Given the description of an element on the screen output the (x, y) to click on. 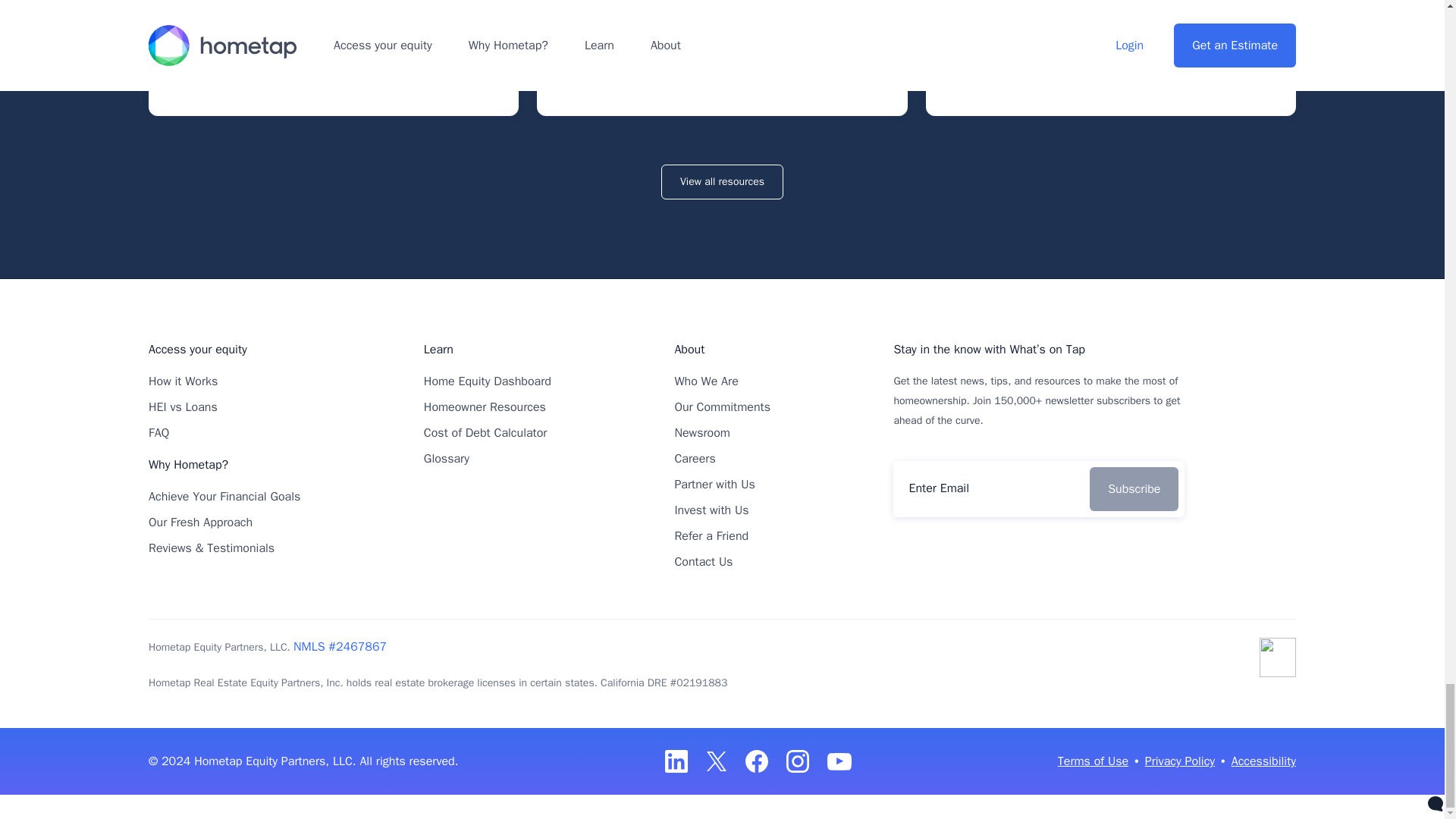
Refer a Friend (711, 535)
Home Equity Dashboard (487, 381)
HEI vs Loans (182, 406)
Glossary (445, 458)
Newsroom (702, 432)
FAQ (158, 432)
Our Fresh Approach (199, 522)
Invest with Us (711, 509)
Careers (694, 458)
Achieve Your Financial Goals (223, 496)
Our Commitments (722, 406)
Cost of Debt Calculator (485, 432)
Homeowner Resources (484, 406)
